Given the description of an element on the screen output the (x, y) to click on. 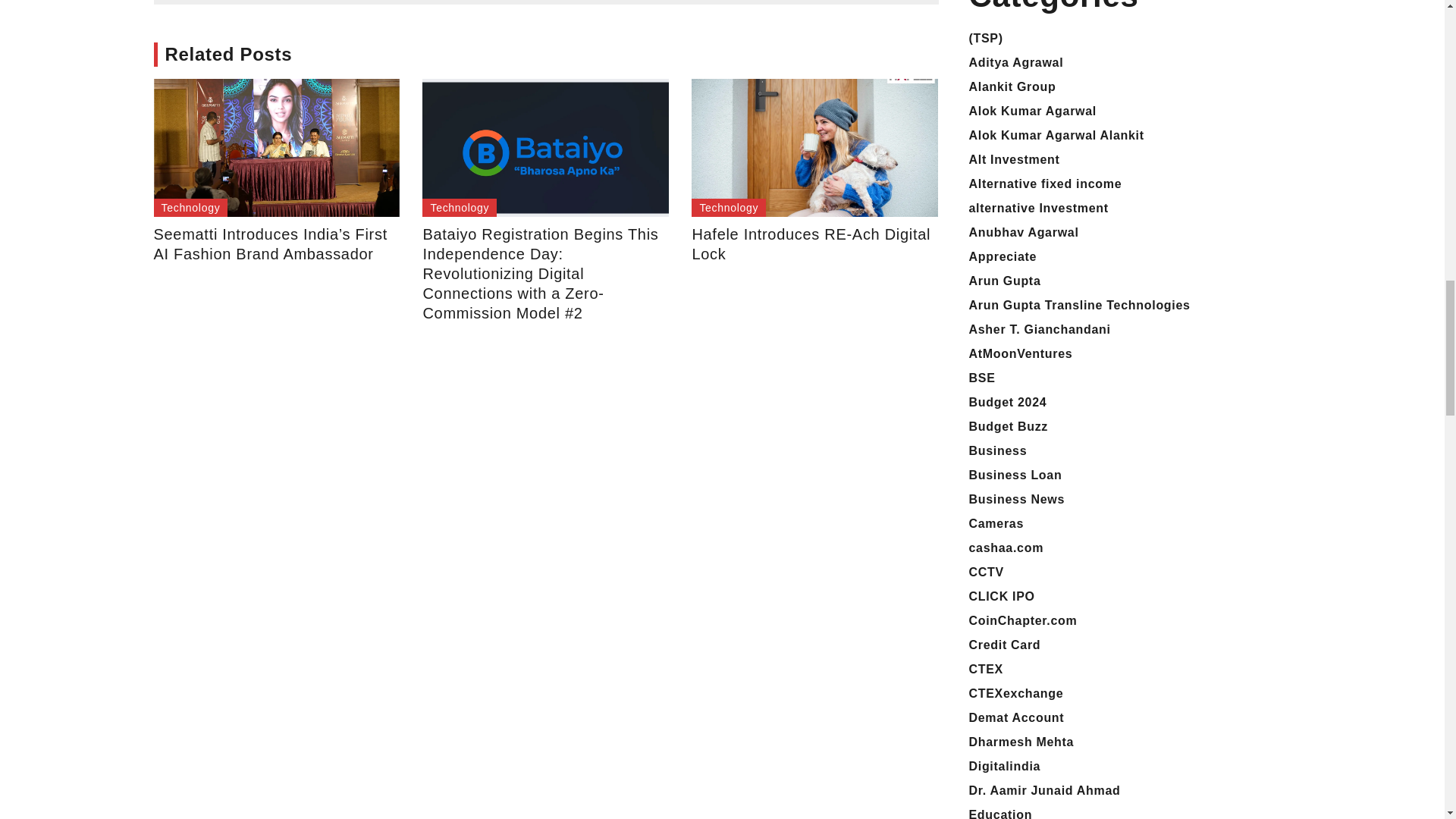
Technology (728, 207)
Technology (459, 207)
Hafele Introduces RE-Ach Digital Lock (814, 243)
Technology (189, 207)
